Given the description of an element on the screen output the (x, y) to click on. 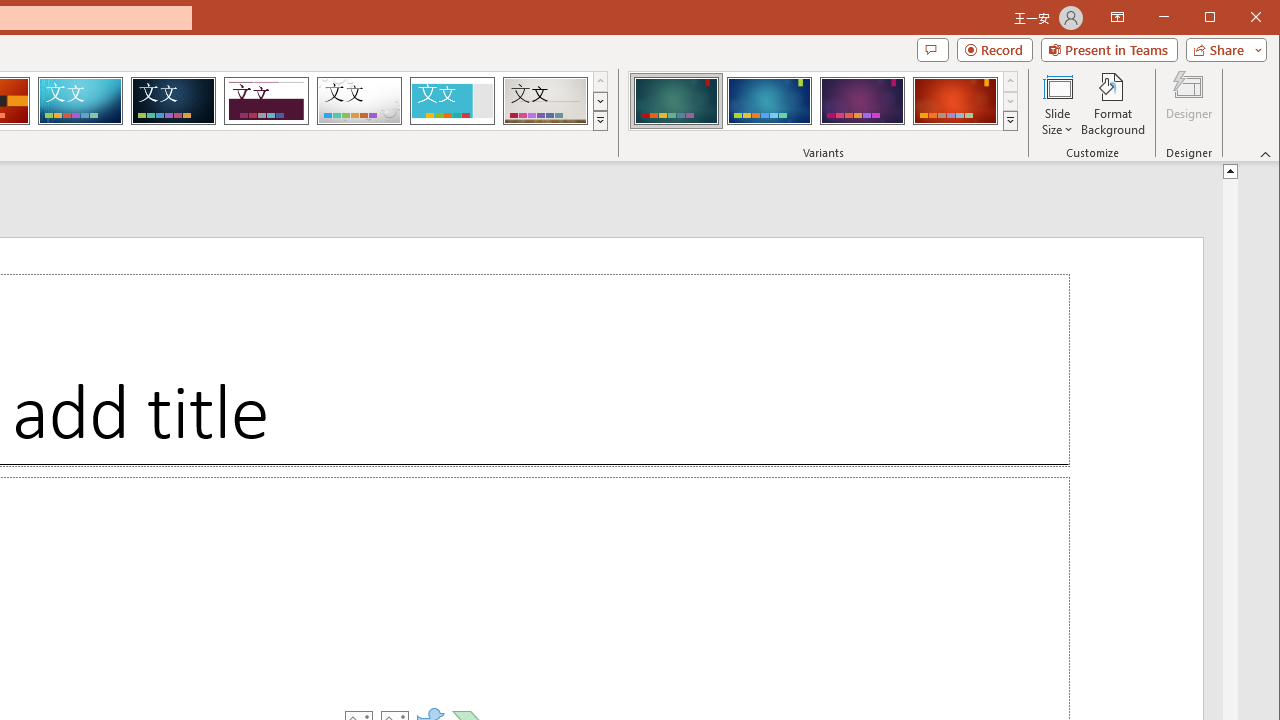
Ion Variant 4 (955, 100)
Slide Size (1057, 104)
Gallery (545, 100)
Circuit (80, 100)
Format Background (1113, 104)
Droplet (359, 100)
Frame (452, 100)
